Given the description of an element on the screen output the (x, y) to click on. 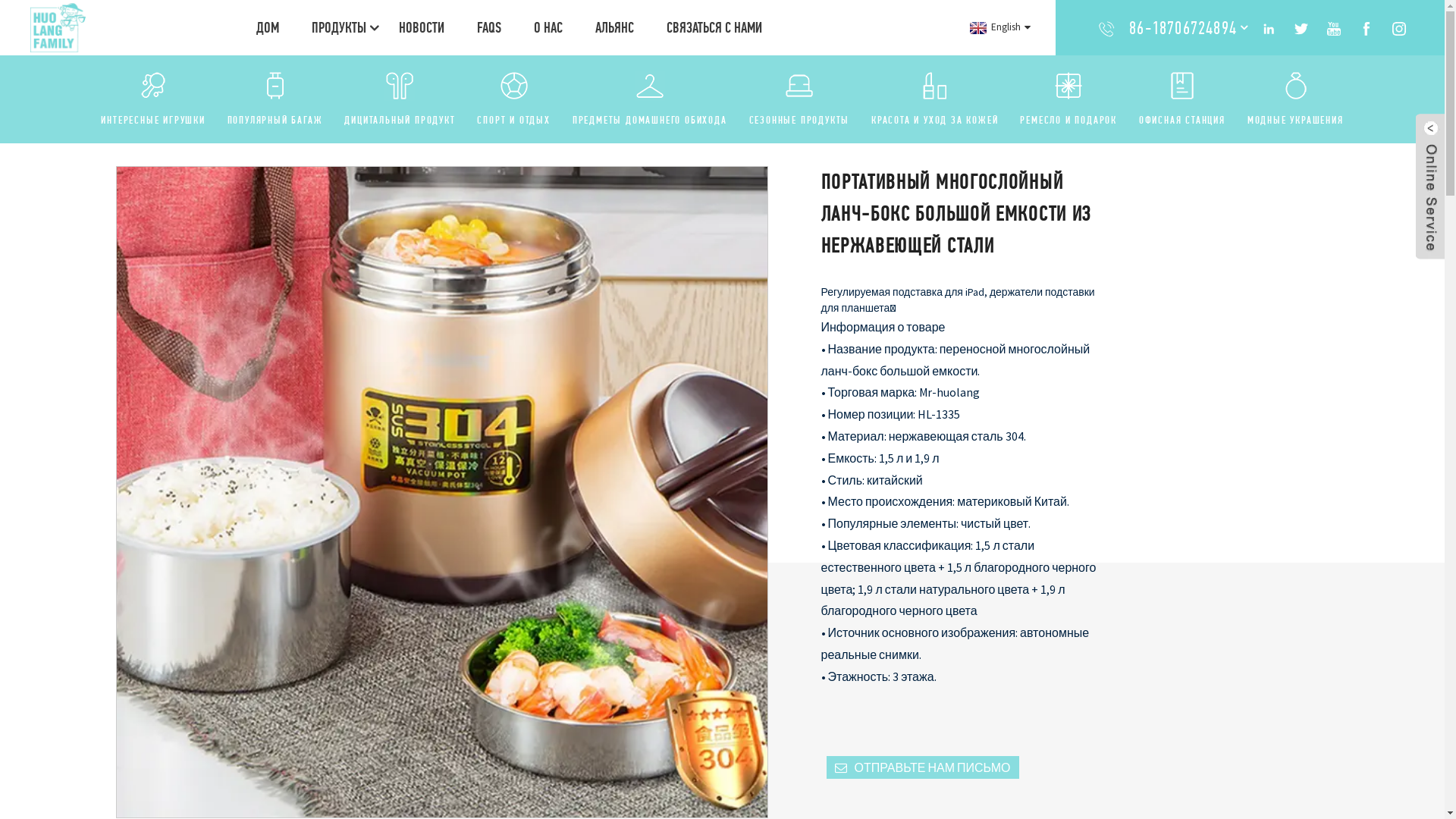
86-18706724894 Element type: text (1182, 27)
FAQS Element type: text (488, 26)
86-19858928898 Element type: text (1182, 61)
English Element type: text (998, 27)
